Given the description of an element on the screen output the (x, y) to click on. 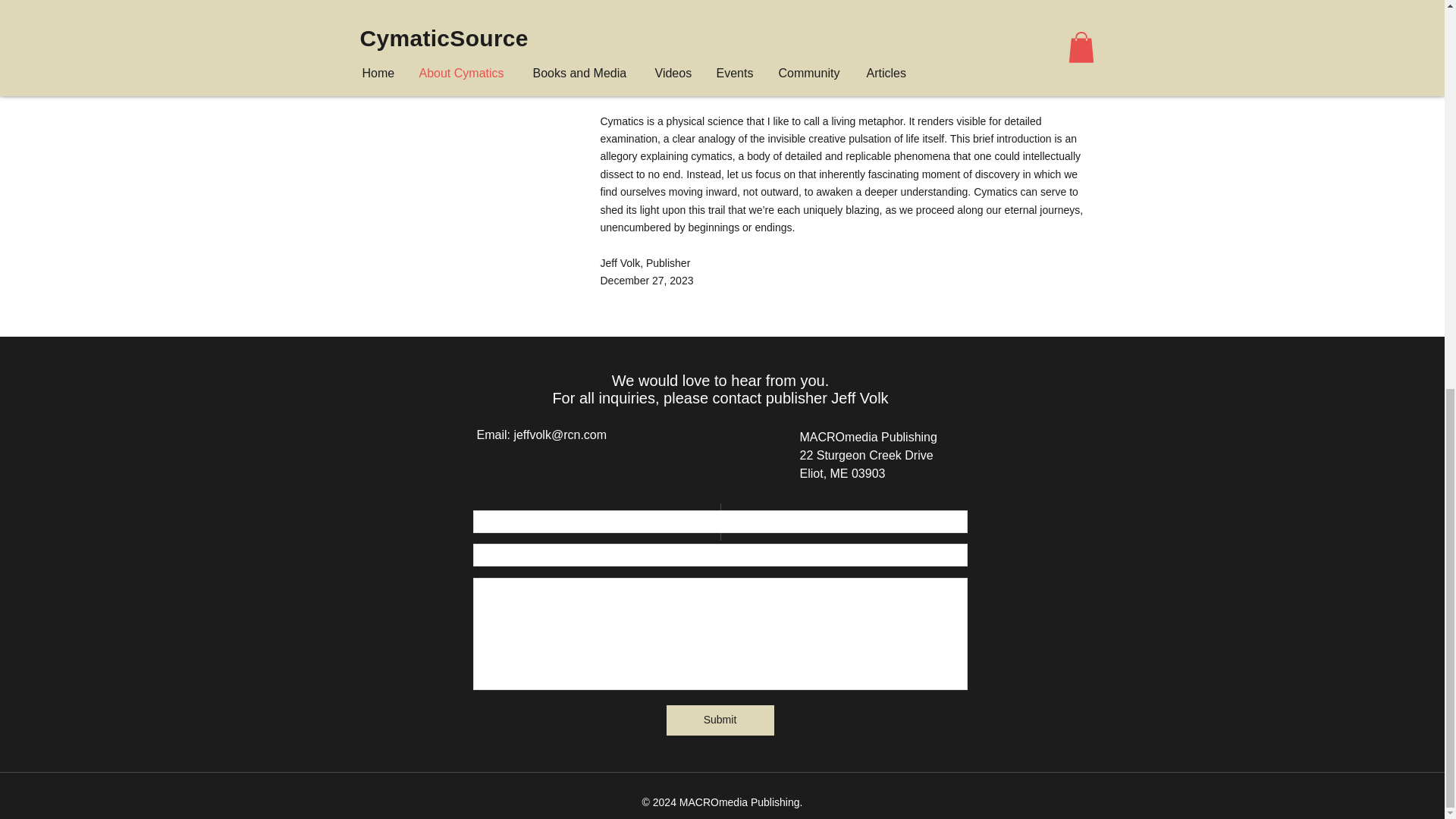
Submit (719, 720)
Email: (494, 434)
